Given the description of an element on the screen output the (x, y) to click on. 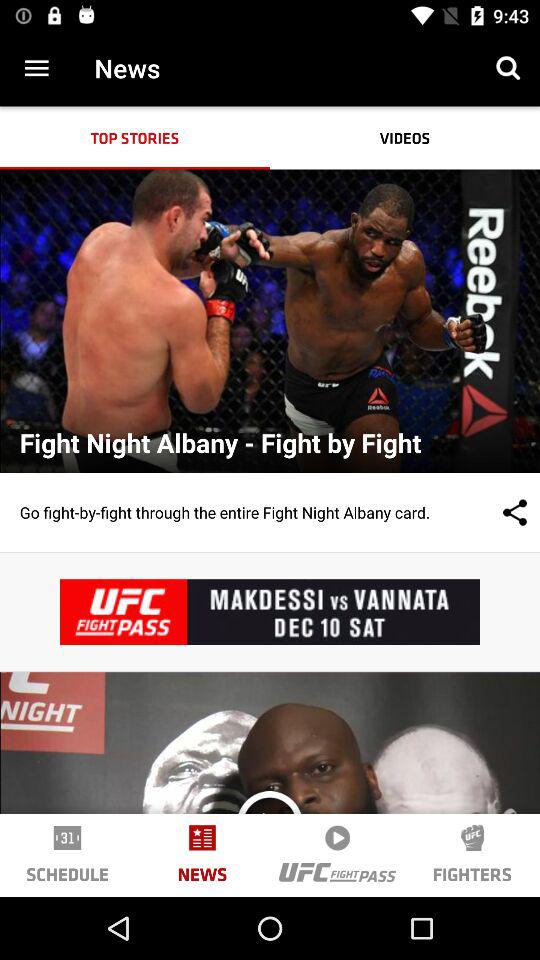
select icon to the right of go fight by icon (495, 512)
